Given the description of an element on the screen output the (x, y) to click on. 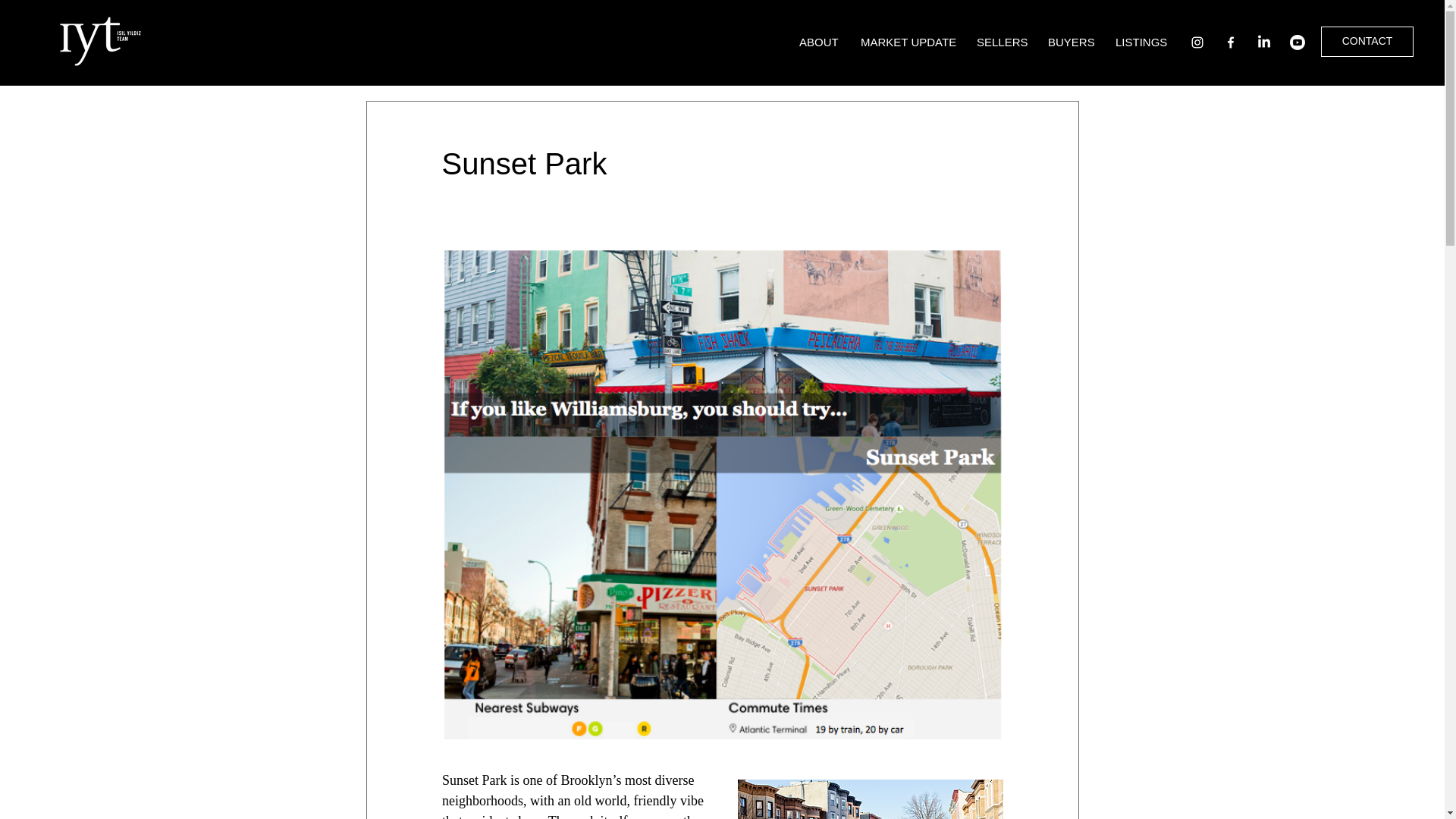
BUYERS (1069, 42)
MARKET UPDATE (906, 42)
LISTINGS (1140, 42)
CONTACT (1366, 41)
ABOUT (817, 42)
SELLERS (1000, 42)
